Given the description of an element on the screen output the (x, y) to click on. 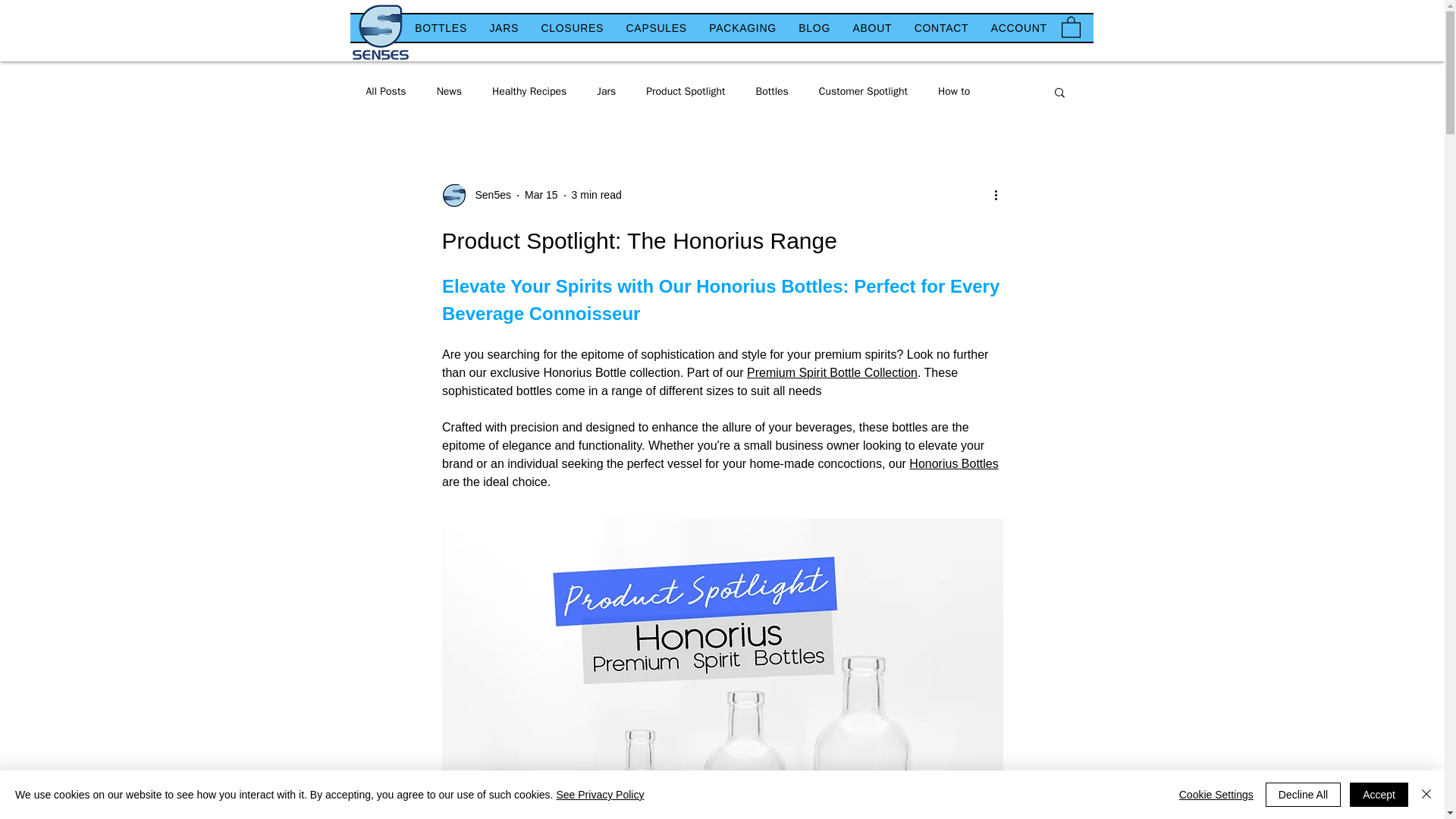
BOTTLES (440, 27)
CAPSULES (656, 27)
ABOUT (871, 27)
Mar 15 (540, 194)
Sen5es (488, 195)
JARS (504, 27)
PACKAGING (742, 27)
3 min read (596, 194)
CLOSURES (571, 27)
BLOG (814, 27)
